Given the description of an element on the screen output the (x, y) to click on. 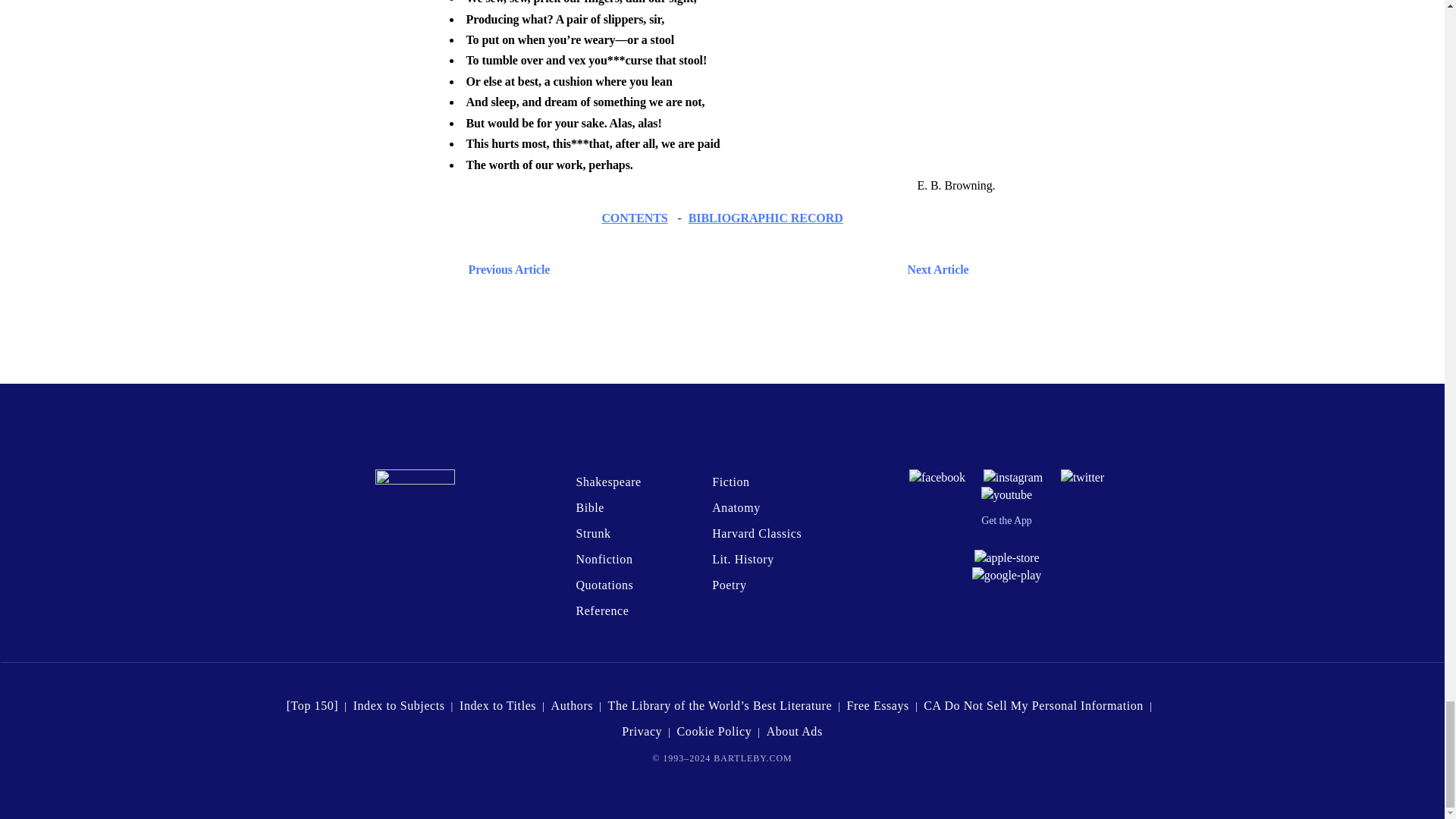
Strunk (592, 533)
Next Article (766, 269)
Bible (589, 507)
Fiction (730, 481)
CONTENTS (633, 217)
Reference (601, 610)
Quotations (604, 584)
BIBLIOGRAPHIC RECORD (765, 217)
Nonfiction (603, 558)
Lit. History (742, 558)
